Given the description of an element on the screen output the (x, y) to click on. 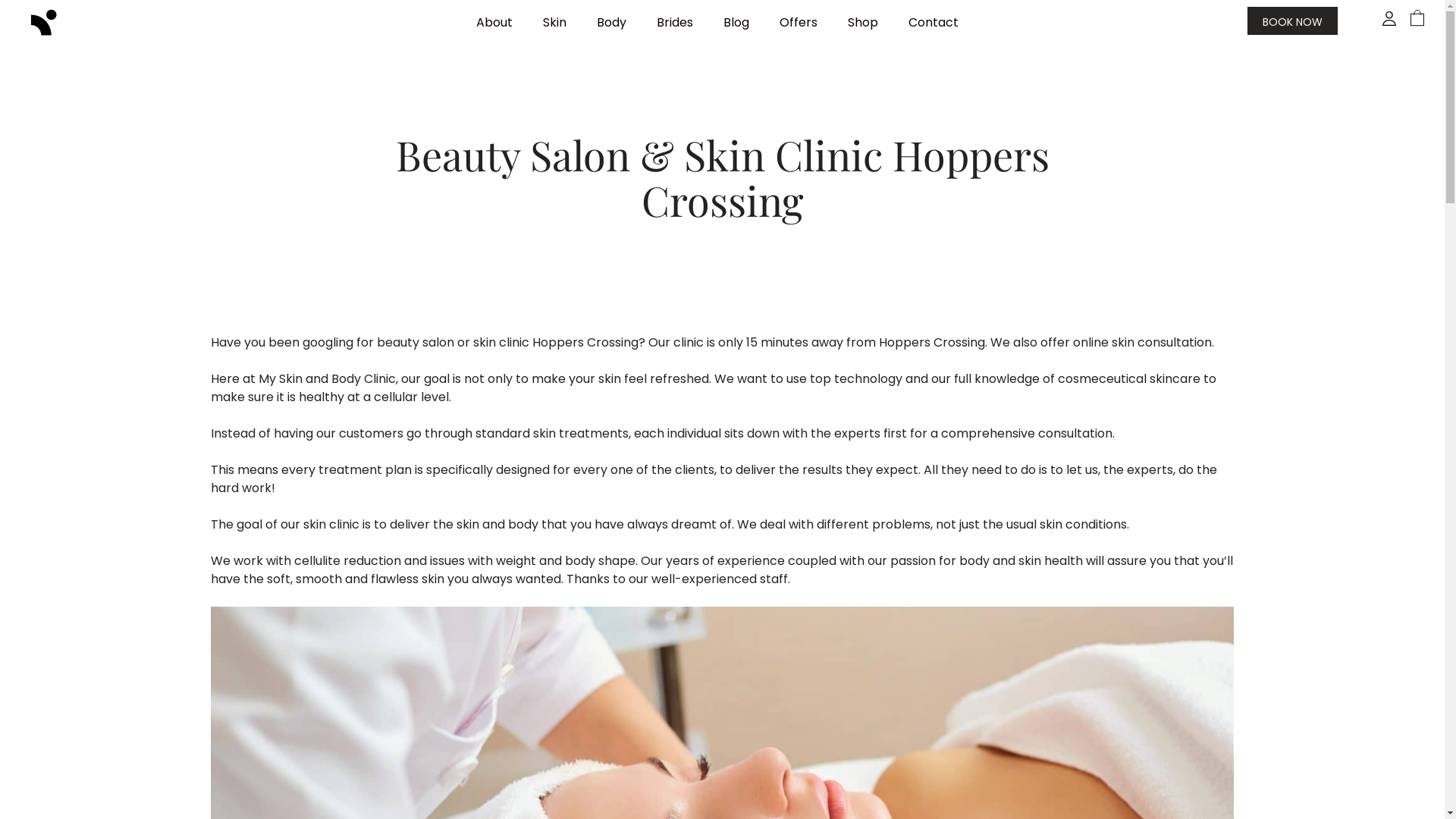
View your shopping cart Element type: hover (1416, 22)
Offers Element type: text (798, 22)
Blog Element type: text (736, 22)
My Skin and Body Clinic Element type: hover (43, 21)
Shop Element type: text (862, 22)
My Skin and Body Clinic Element type: hover (43, 22)
Skin Element type: text (554, 22)
Body Element type: text (610, 22)
About Element type: text (494, 22)
BOOK NOW Element type: text (1292, 20)
Contact Element type: text (933, 22)
Brides Element type: text (674, 22)
